Given the description of an element on the screen output the (x, y) to click on. 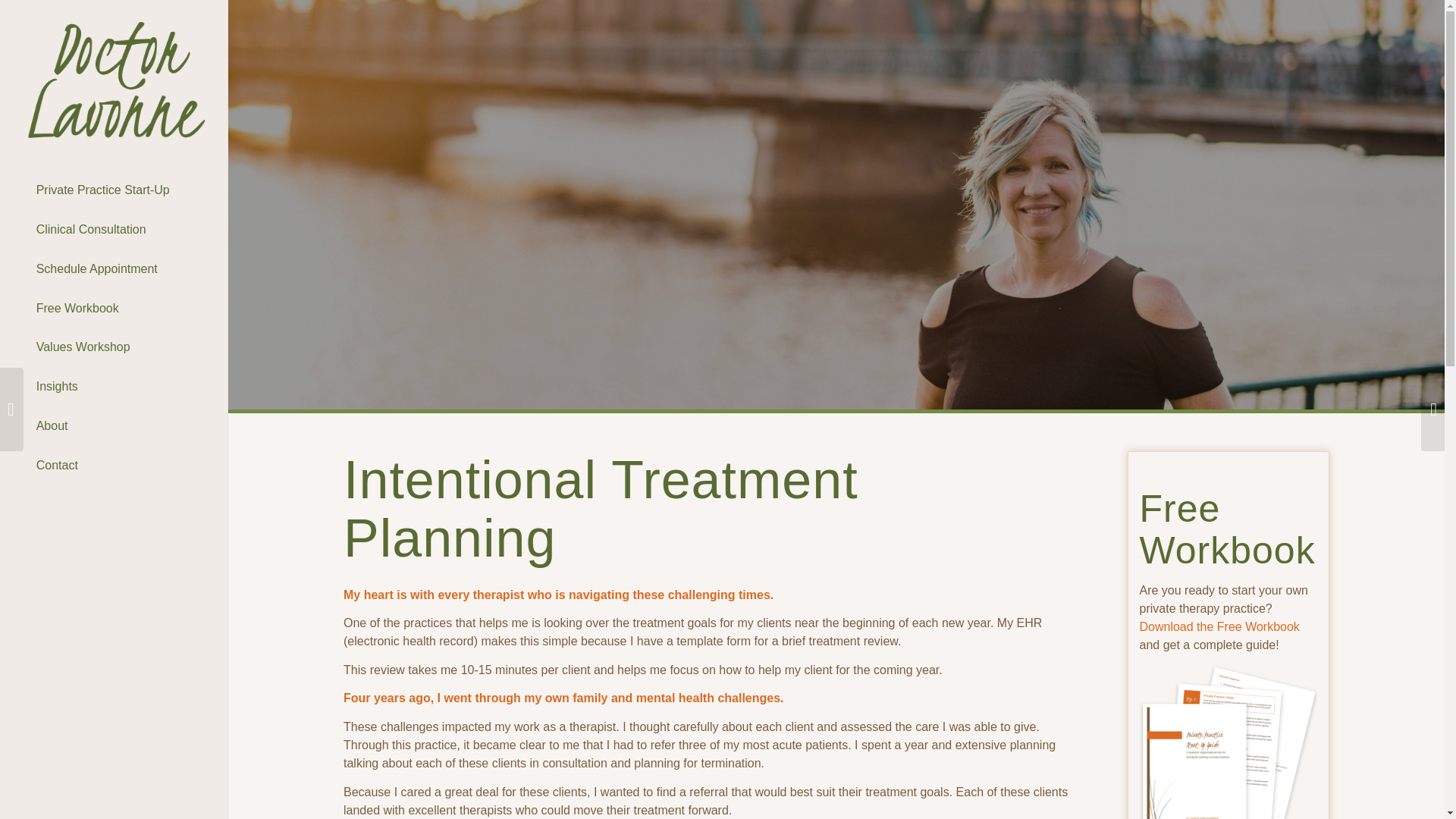
About (113, 426)
Schedule Appointment (113, 269)
Values Workshop (113, 347)
Logo 96dpi 700px (113, 79)
Insights (113, 387)
Clinical Consultation (113, 230)
Private Practice Start-Up (113, 190)
Contact (113, 465)
Free Workbook (113, 309)
Download the Free Workbook (1218, 626)
